Given the description of an element on the screen output the (x, y) to click on. 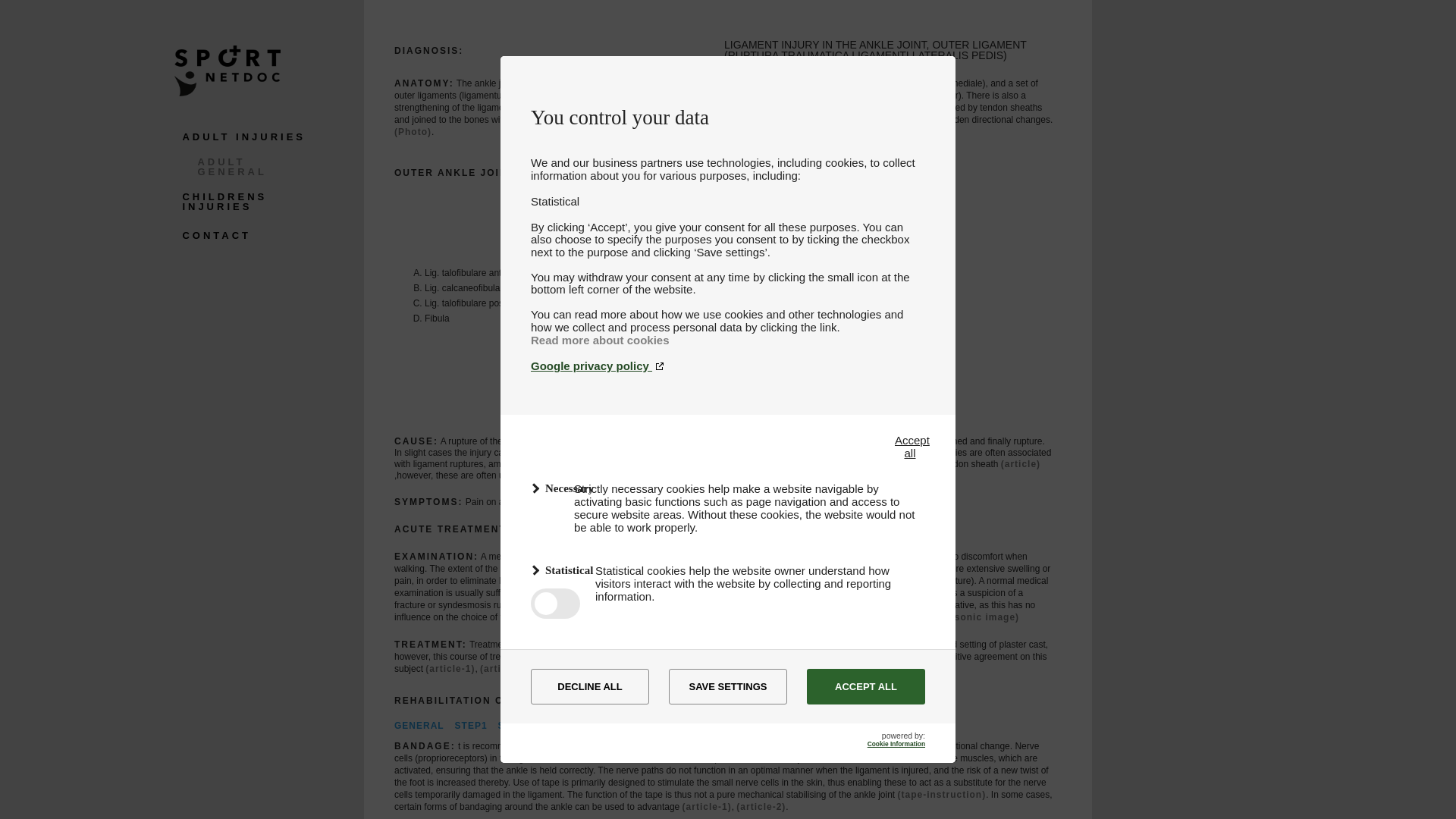
Cookie Information (895, 743)
ACCEPT ALL (865, 686)
SAVE SETTINGS (727, 686)
Read more about cookies (600, 339)
Google privacy policy (727, 365)
DECLINE ALL (590, 686)
Necessary (542, 488)
Statistical (543, 570)
Accept all (909, 446)
